Given the description of an element on the screen output the (x, y) to click on. 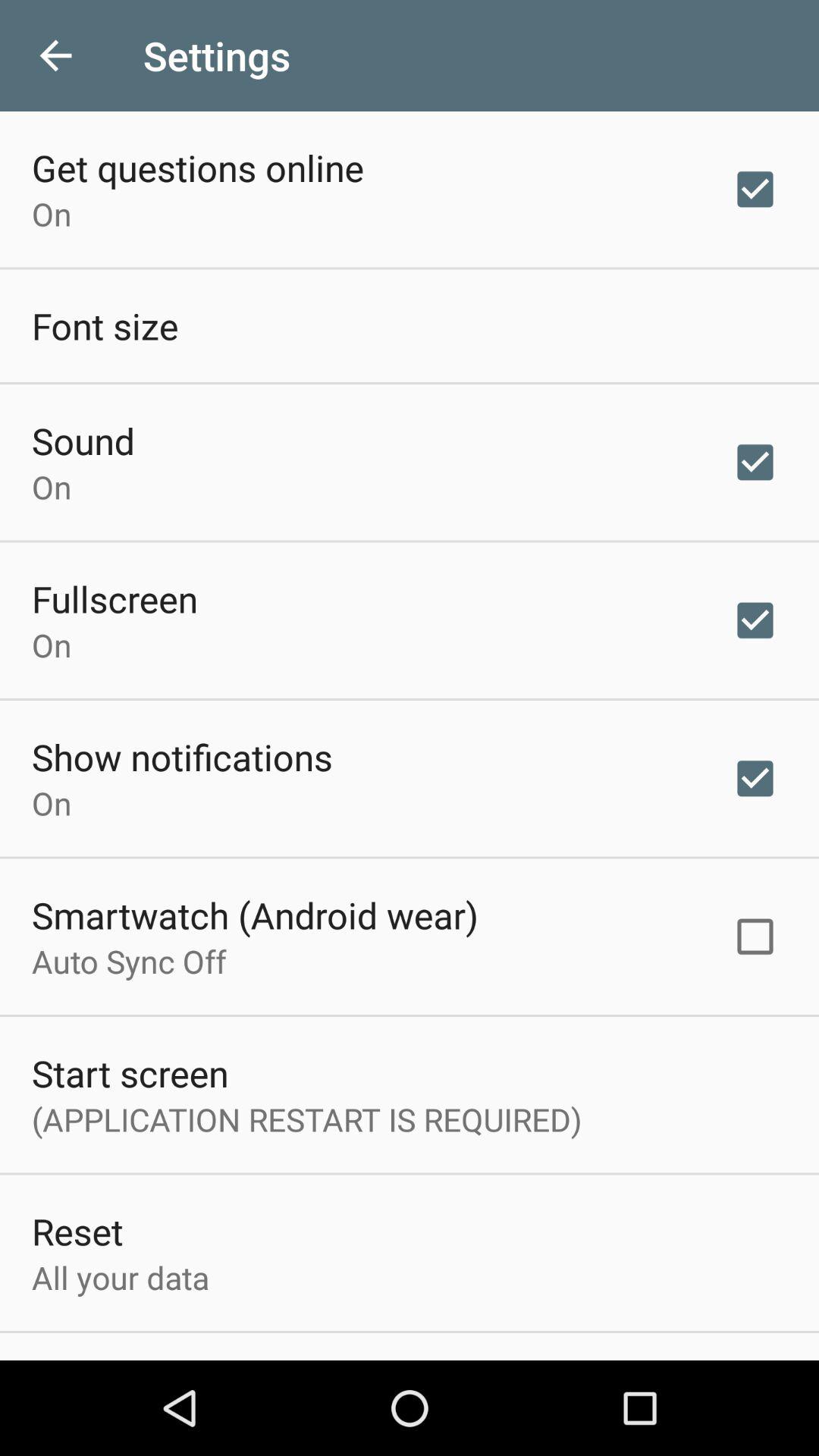
launch icon above get questions online (55, 55)
